Given the description of an element on the screen output the (x, y) to click on. 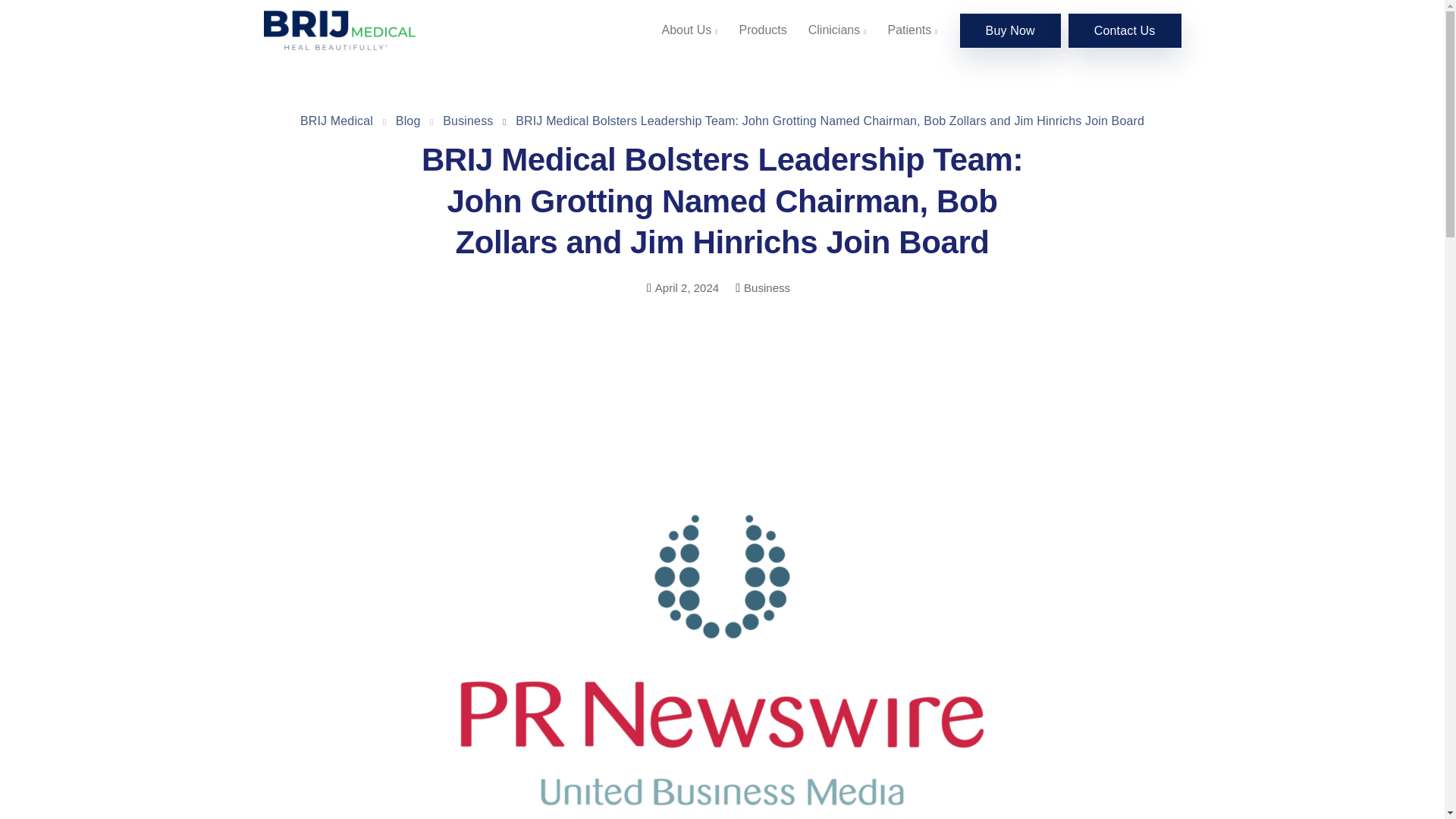
Blog (408, 120)
Business (467, 120)
Business (767, 287)
Buy Now (1010, 30)
Products (763, 30)
Specialties (1151, 496)
Patients (911, 30)
Go to Blog. (408, 120)
Clinicians (837, 30)
Contact Us (1124, 30)
Go to BRIJ Medical. (335, 120)
About Us (1155, 477)
Go to the Business Category archives. (467, 120)
BRIJ Medical (335, 120)
About Us (689, 30)
